Given the description of an element on the screen output the (x, y) to click on. 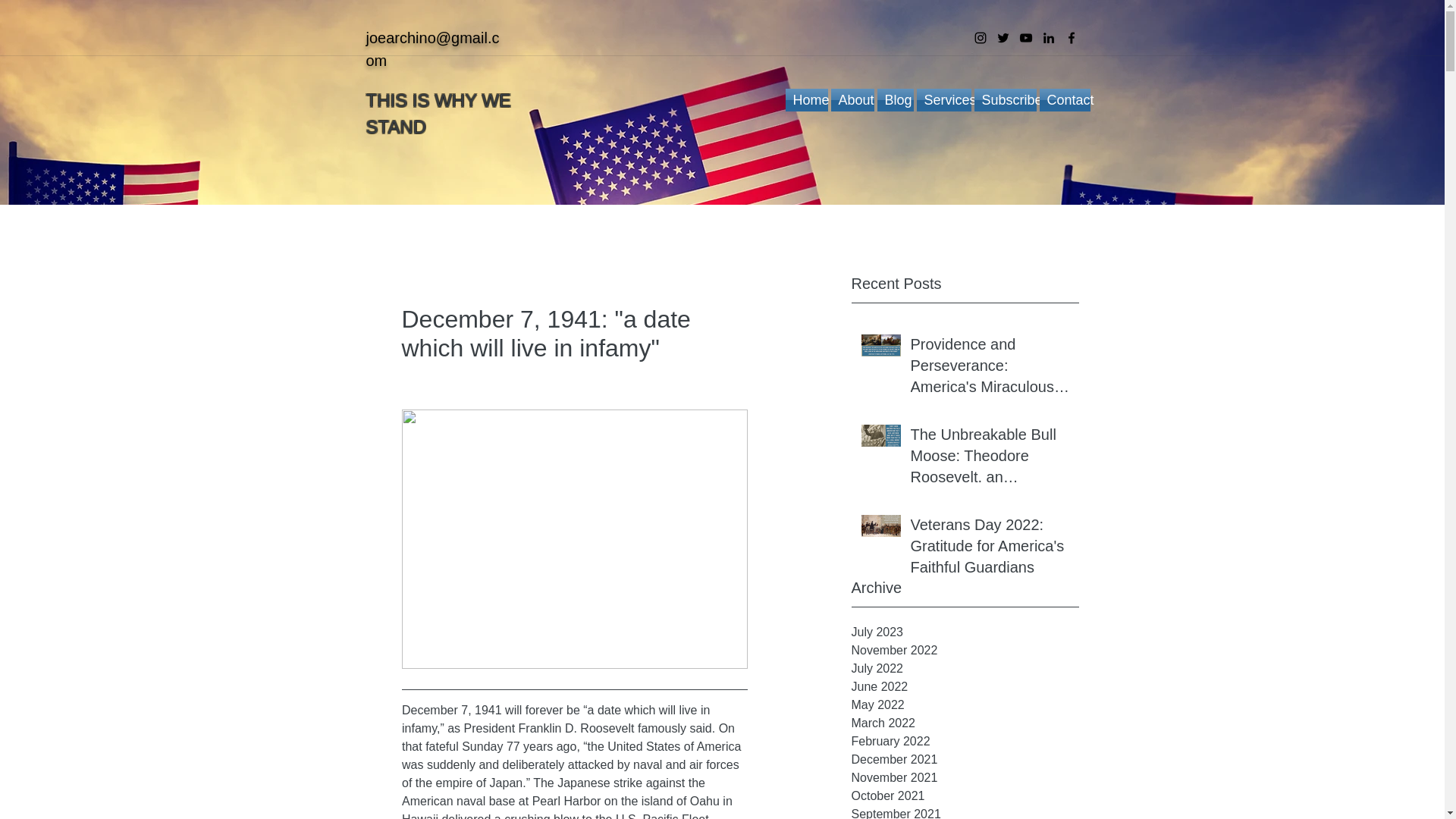
July 2023 (964, 632)
Blog (894, 99)
Contact (1062, 99)
Home (806, 99)
February 2022 (964, 741)
July 2022 (964, 669)
March 2022 (964, 723)
October 2021 (964, 796)
September 2021 (964, 812)
Services (943, 99)
About (852, 99)
June 2022 (964, 687)
December 2021 (964, 760)
